Given the description of an element on the screen output the (x, y) to click on. 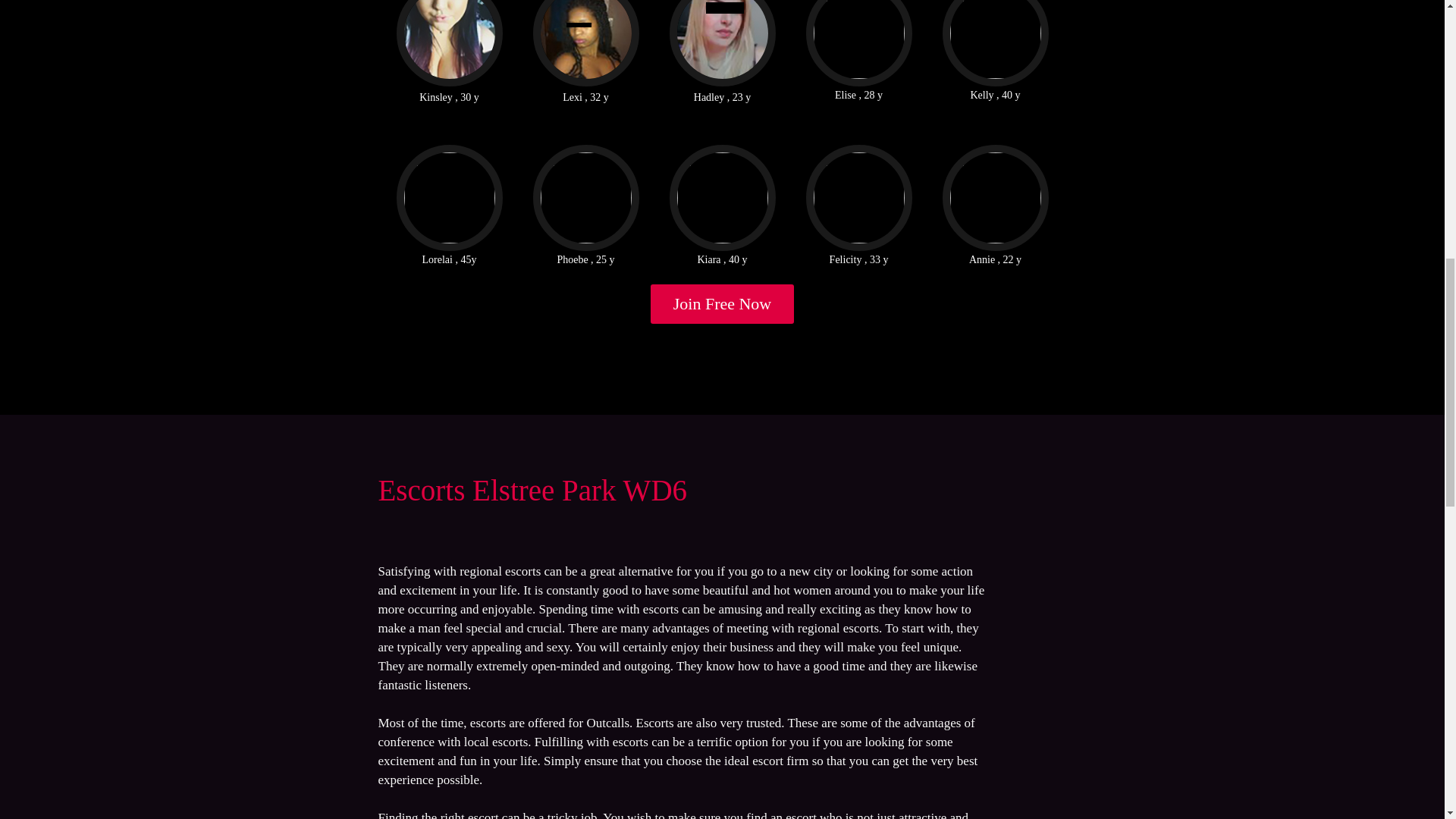
Escorts Elstree Park WD6 (532, 490)
Join (722, 303)
Join Free Now (722, 303)
